Given the description of an element on the screen output the (x, y) to click on. 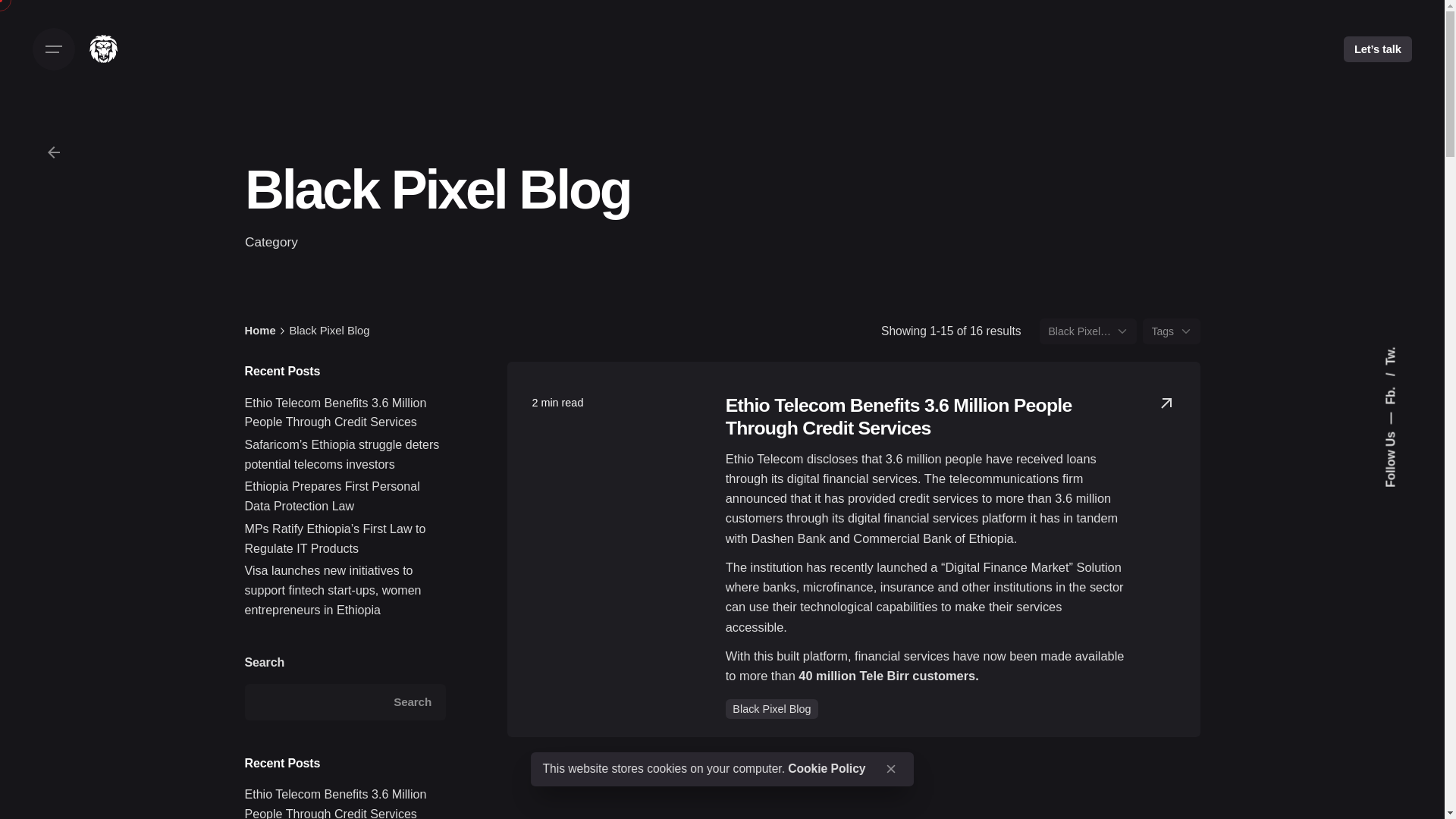
Home (259, 330)
Fb. (1399, 379)
Tw. (1393, 352)
Ethiopia Prepares First Personal Data Protection Law (331, 495)
Search (412, 701)
